Given the description of an element on the screen output the (x, y) to click on. 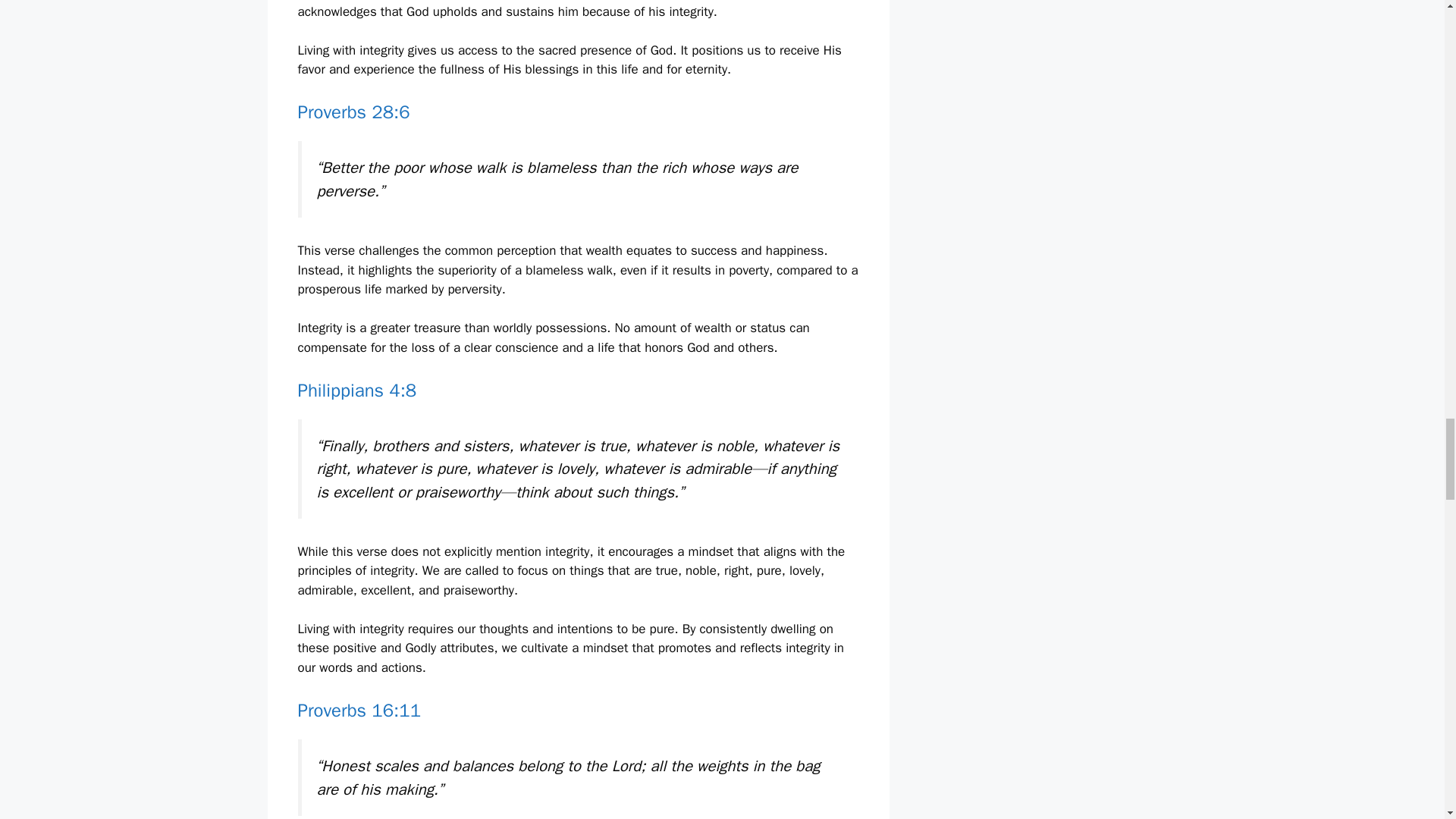
Proverbs 16:11 (358, 710)
Philippians 4:8 (356, 390)
Proverbs 28:6 (353, 111)
